Given the description of an element on the screen output the (x, y) to click on. 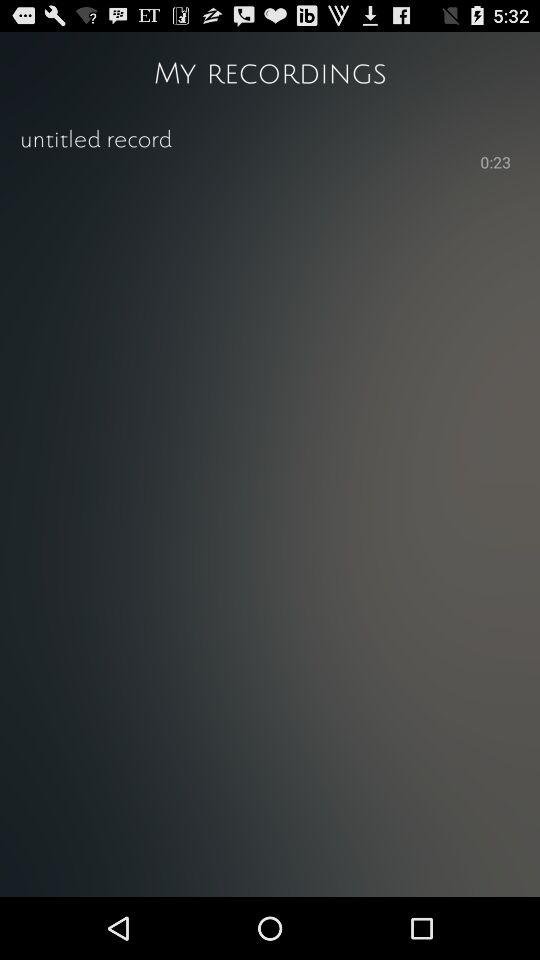
select item below untitled record (248, 161)
